Given the description of an element on the screen output the (x, y) to click on. 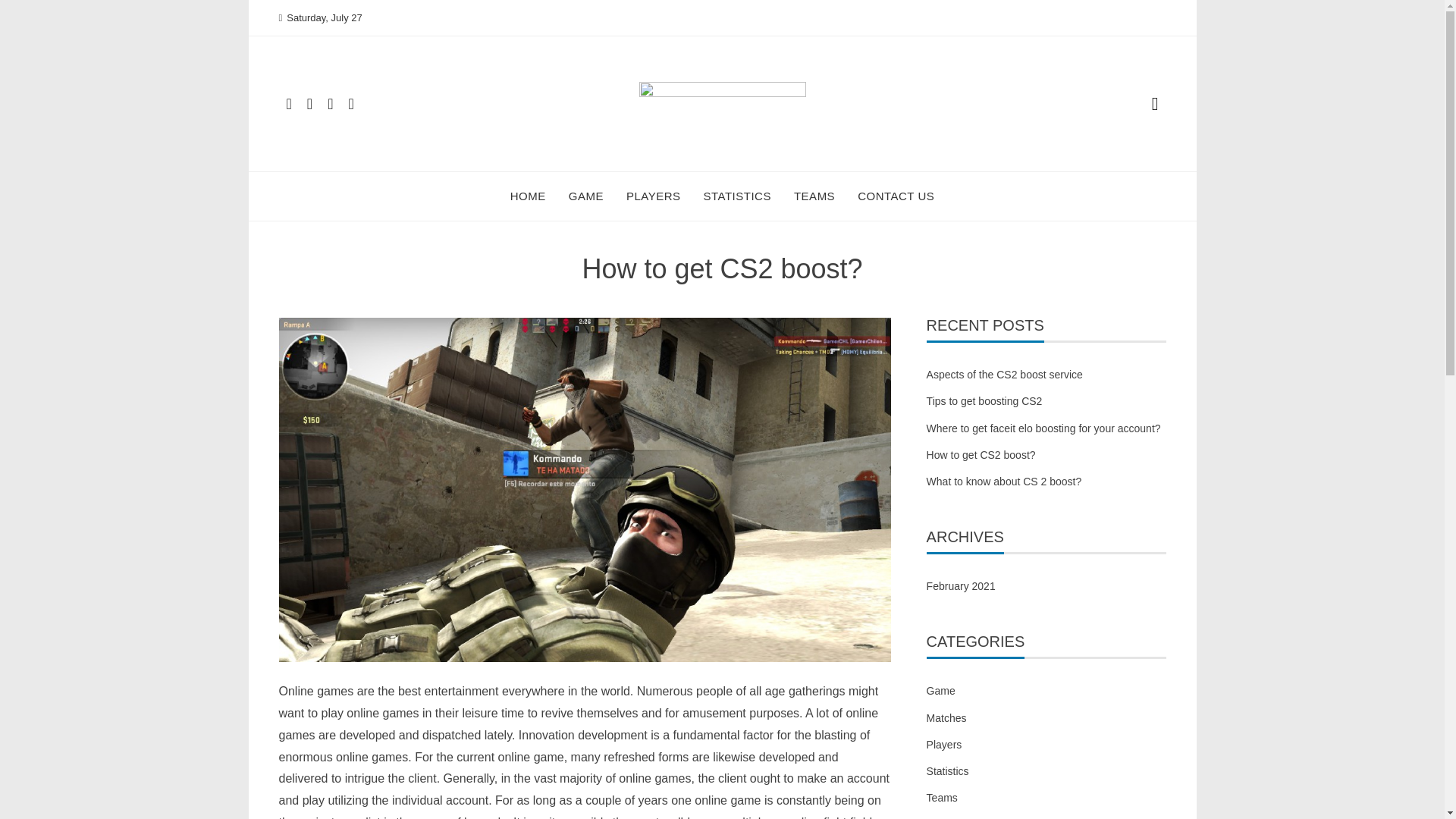
Where to get faceit elo boosting for your account? (1043, 428)
CONTACT US (895, 196)
February 2021 (960, 585)
STATISTICS (737, 196)
TEAMS (813, 196)
What to know about CS 2 boost? (1003, 481)
Tips to get boosting CS2 (984, 400)
How to get CS2 boost? (980, 454)
Matches (946, 717)
Teams (942, 797)
Aspects of the CS2 boost service   (1007, 374)
GAME (586, 196)
PLAYERS (653, 196)
Statistics (947, 771)
Game (940, 691)
